Given the description of an element on the screen output the (x, y) to click on. 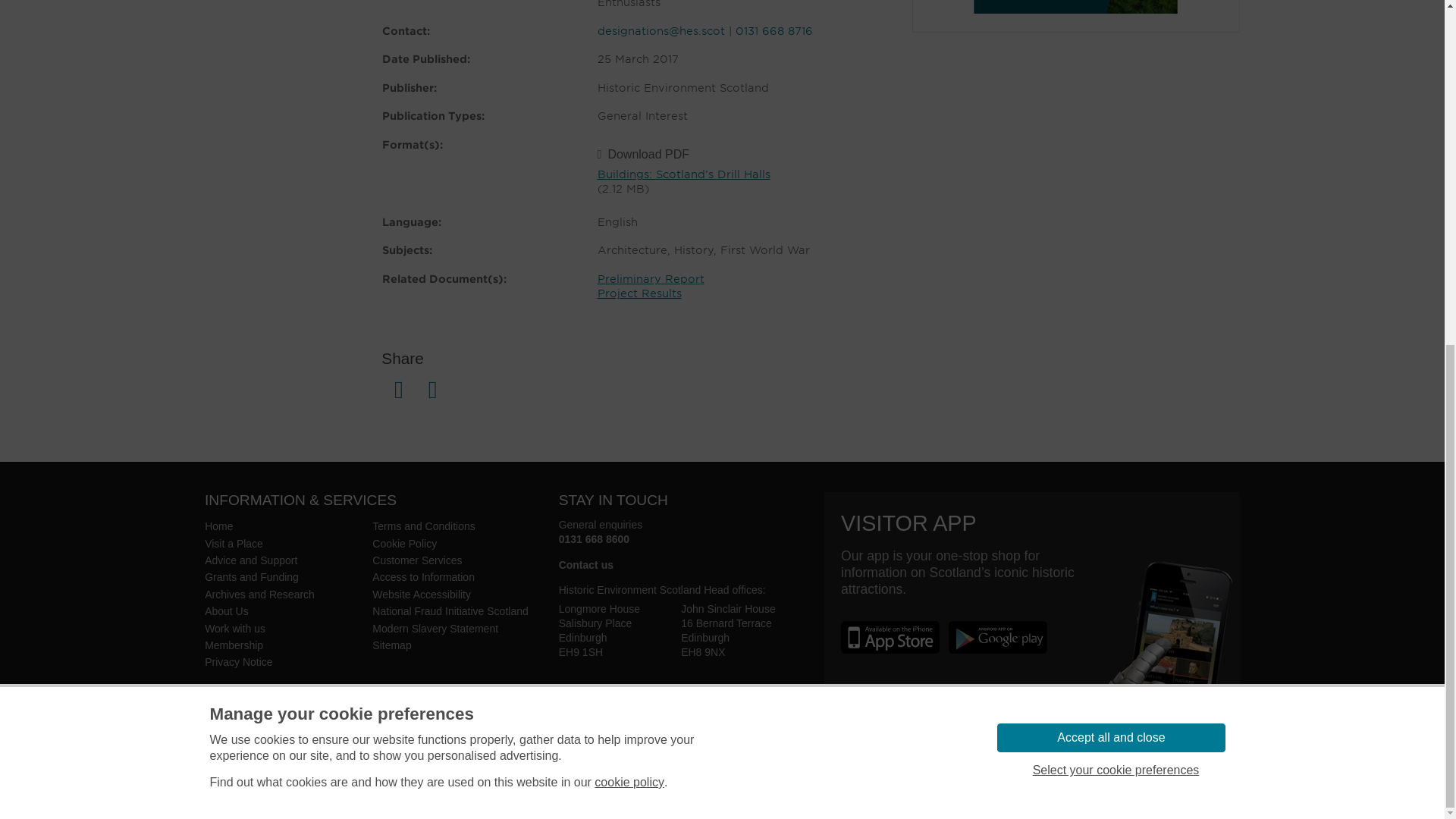
Share on Facebook (397, 393)
cookie policy (628, 191)
Share on X (431, 393)
Accept all and close (1110, 146)
Select your cookie preferences (1114, 179)
